Given the description of an element on the screen output the (x, y) to click on. 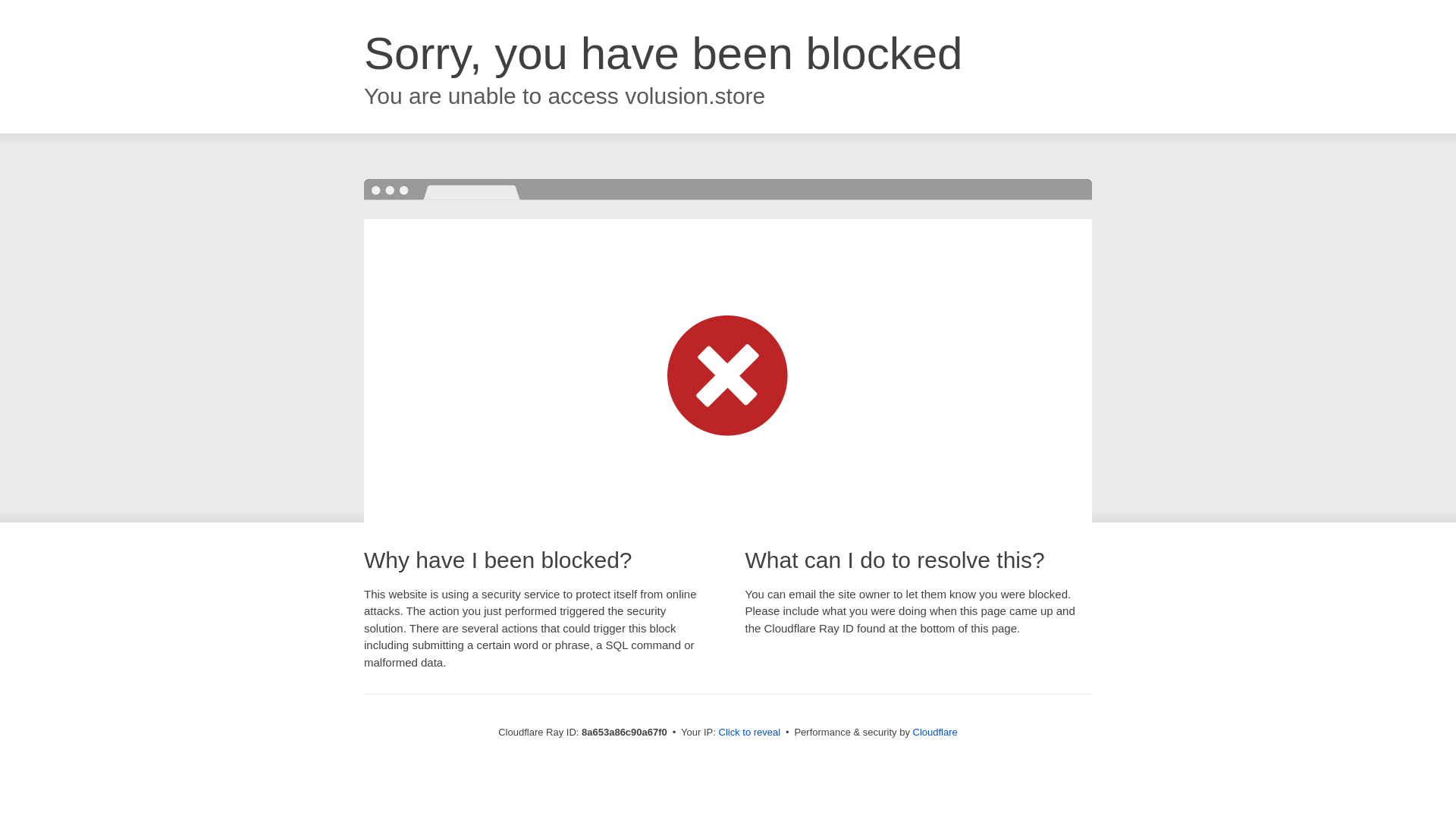
Click to reveal (749, 732)
Cloudflare (935, 731)
